Given the description of an element on the screen output the (x, y) to click on. 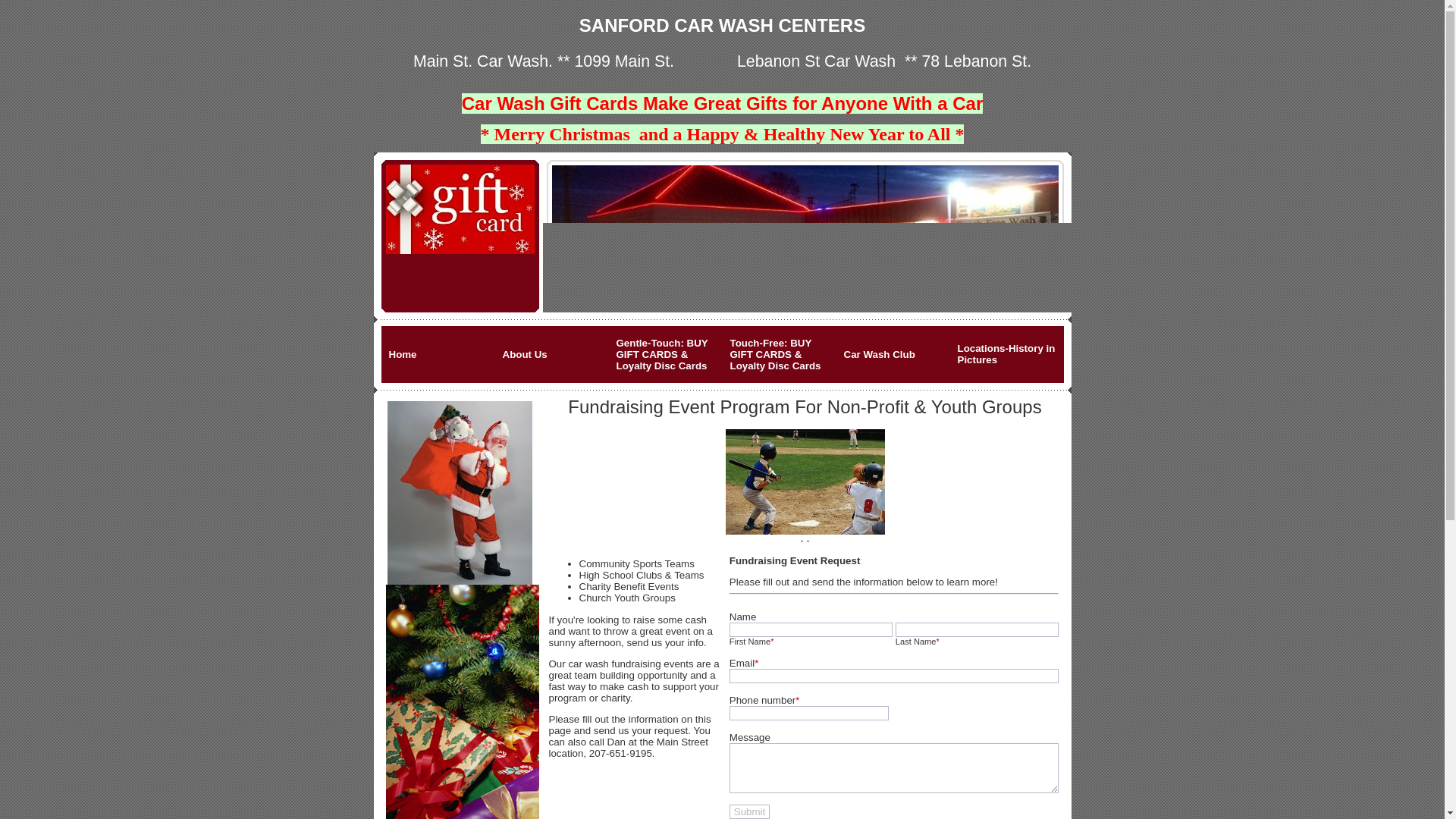
Submit (749, 811)
Home (437, 354)
Submit (749, 811)
Locations-History in Pictures (1005, 354)
Car Wash Club (892, 354)
About Us (551, 354)
